Given the description of an element on the screen output the (x, y) to click on. 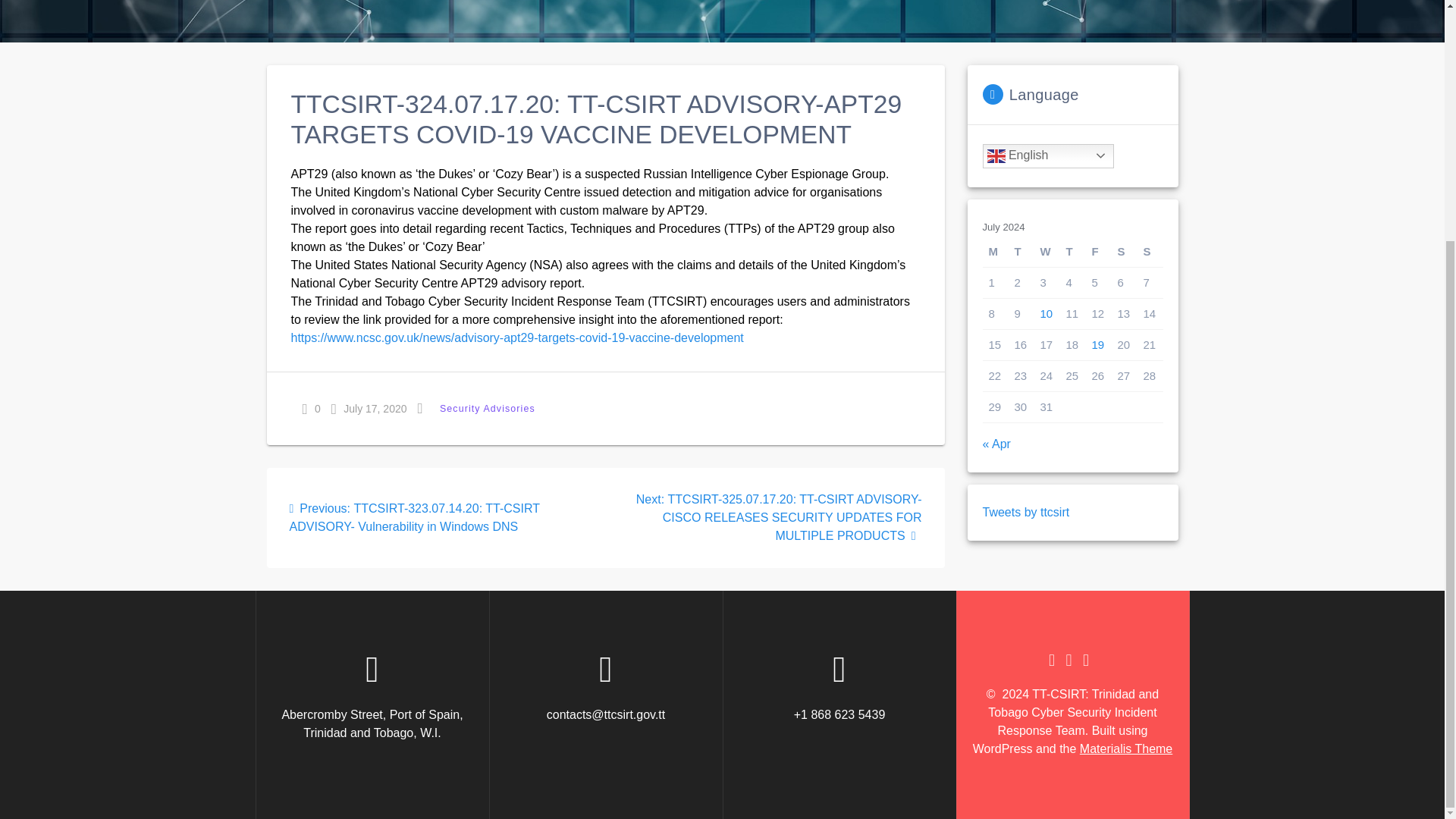
Tweets by ttcsirt (1026, 512)
Materialis Theme (1126, 748)
July 17, 2020 (369, 408)
0 (310, 408)
English (1047, 156)
Security Advisories (487, 408)
19 (1098, 344)
10 (1046, 313)
